Given the description of an element on the screen output the (x, y) to click on. 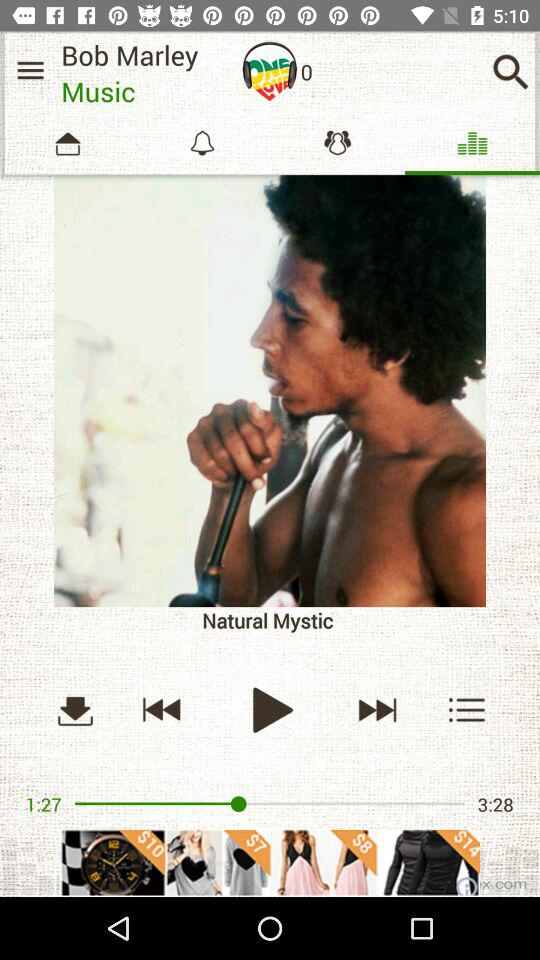
next (376, 709)
